Given the description of an element on the screen output the (x, y) to click on. 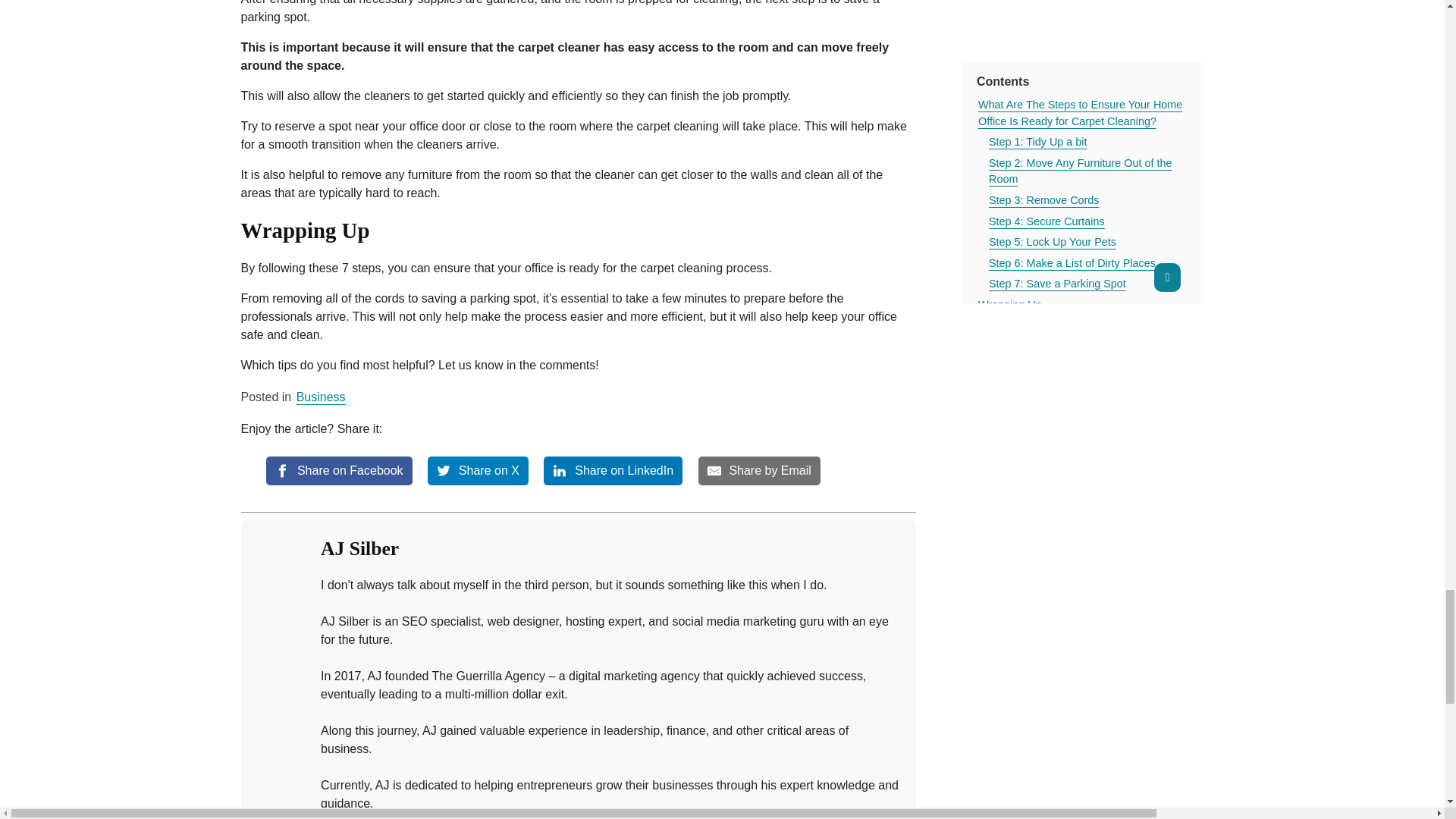
Business (321, 396)
Share on LinkedIn (612, 470)
Share on Facebook (339, 470)
Share by Email (759, 470)
Share on X (478, 470)
